Given the description of an element on the screen output the (x, y) to click on. 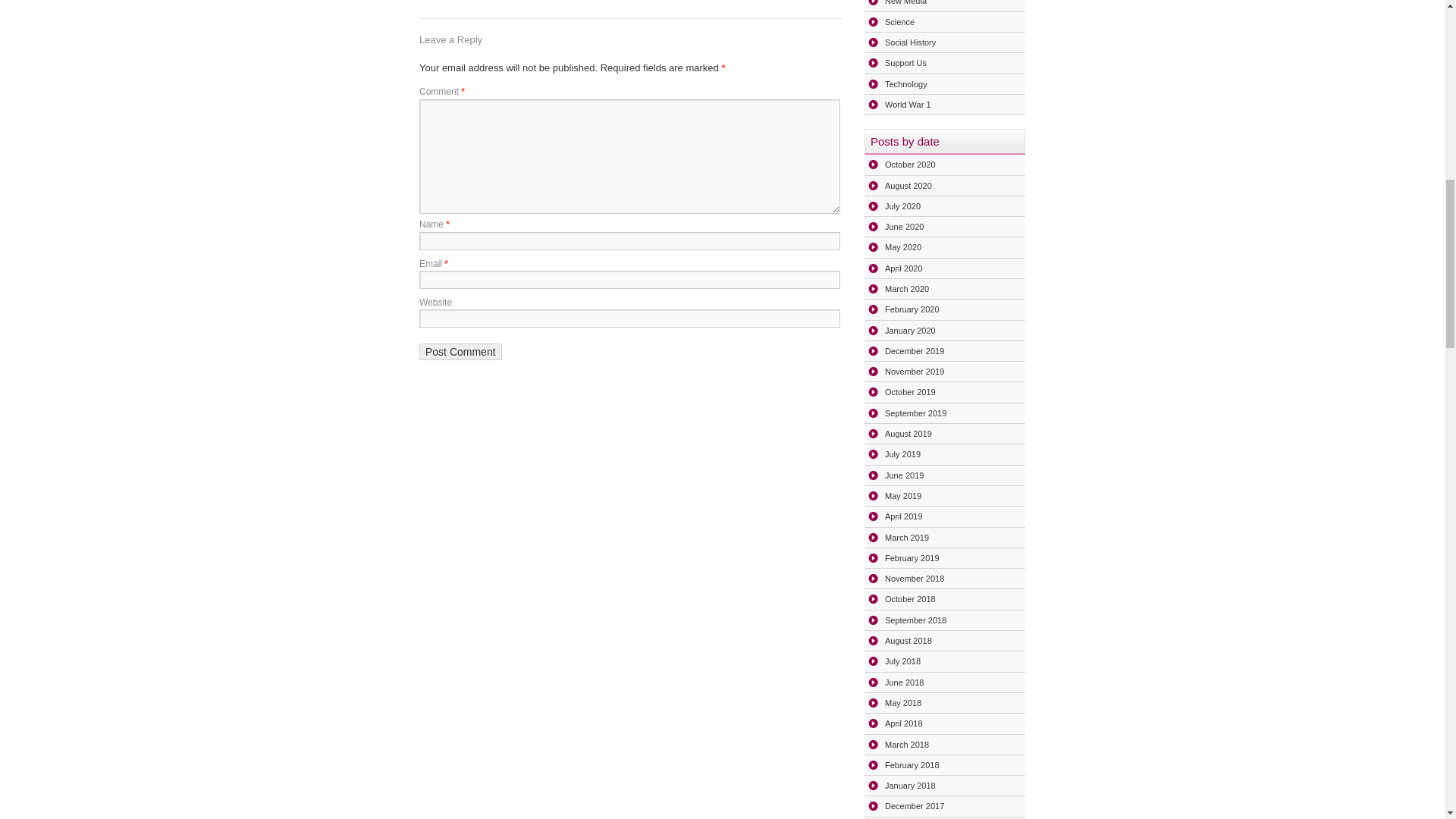
Post Comment (460, 351)
Post Comment (460, 351)
